Given the description of an element on the screen output the (x, y) to click on. 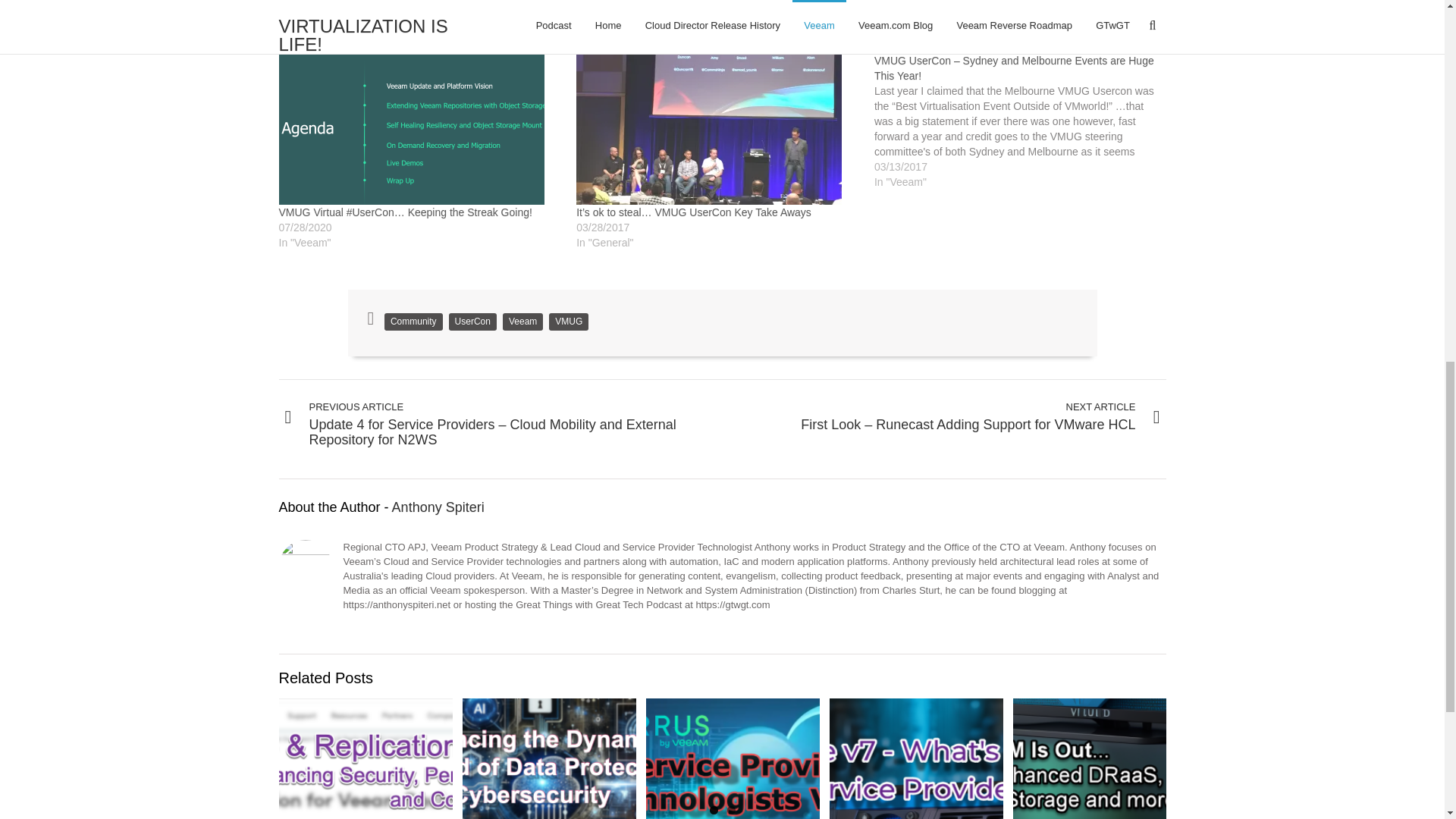
Posts by Anthony Spiteri (437, 506)
